Given the description of an element on the screen output the (x, y) to click on. 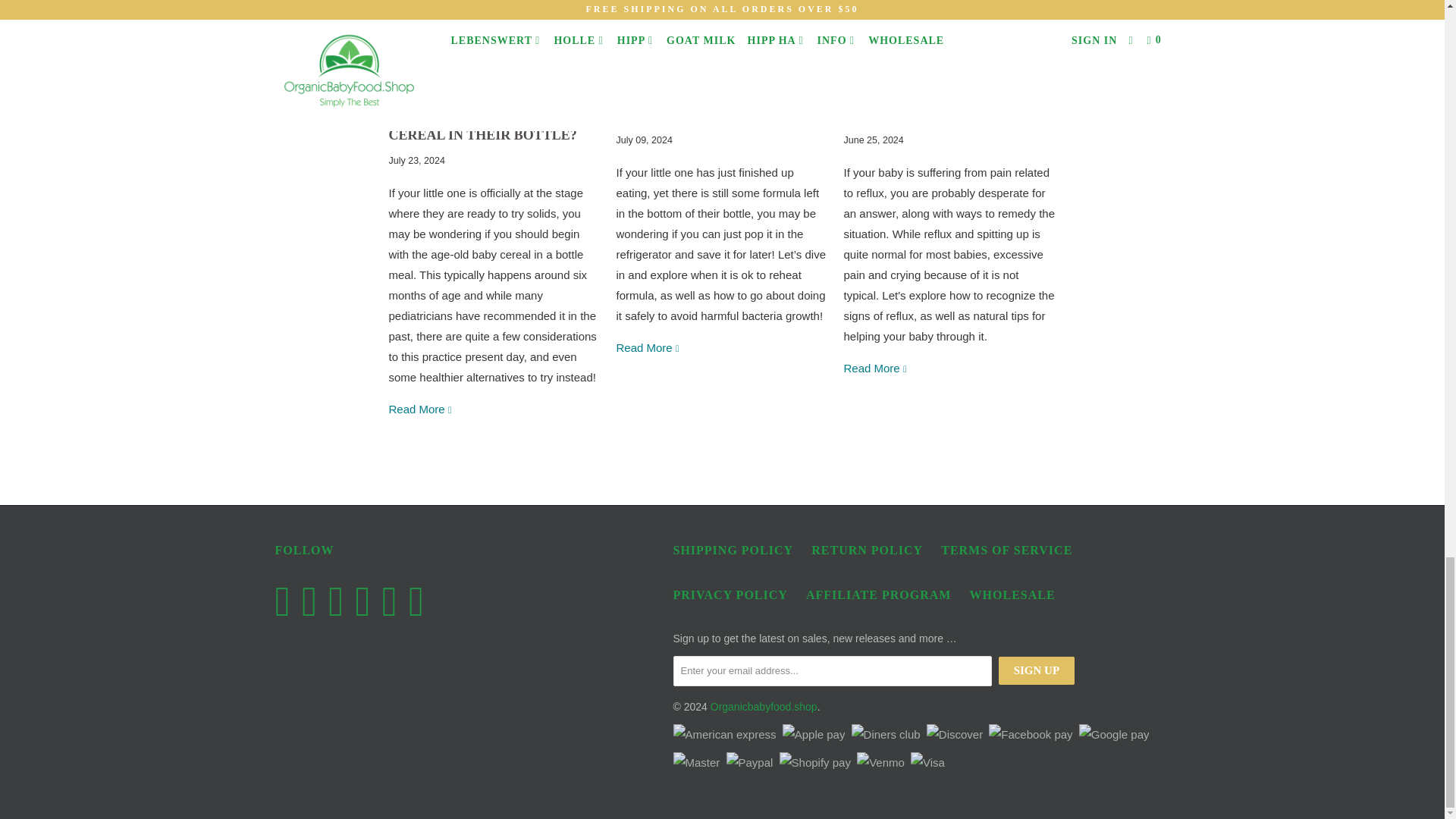
Should Your Baby Try Cereal in Their Bottle? (420, 408)
How To Prepare Formula Safely (721, 62)
How To Prepare Formula Safely (713, 104)
Sign Up (1036, 670)
Should Your Baby Try Cereal in Their Bottle? (482, 124)
Tips For Babies With Reflux (875, 367)
Tips For Babies With Reflux (922, 104)
How To Prepare Formula Safely (647, 347)
Should Your Baby Try Cereal in Their Bottle? (493, 72)
Tips For Babies With Reflux (949, 62)
